Given the description of an element on the screen output the (x, y) to click on. 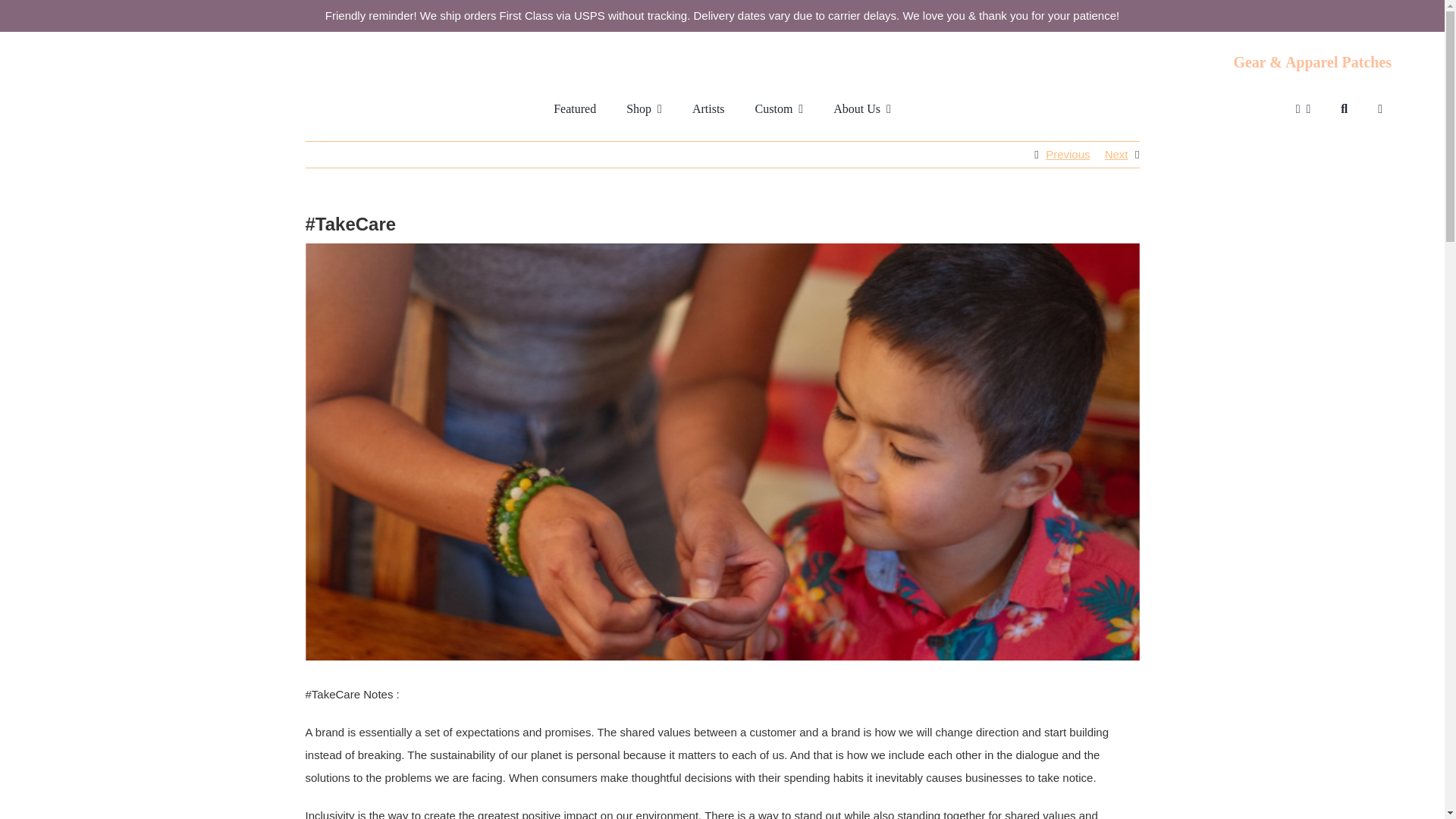
Search (1343, 108)
Custom (779, 109)
